Given the description of an element on the screen output the (x, y) to click on. 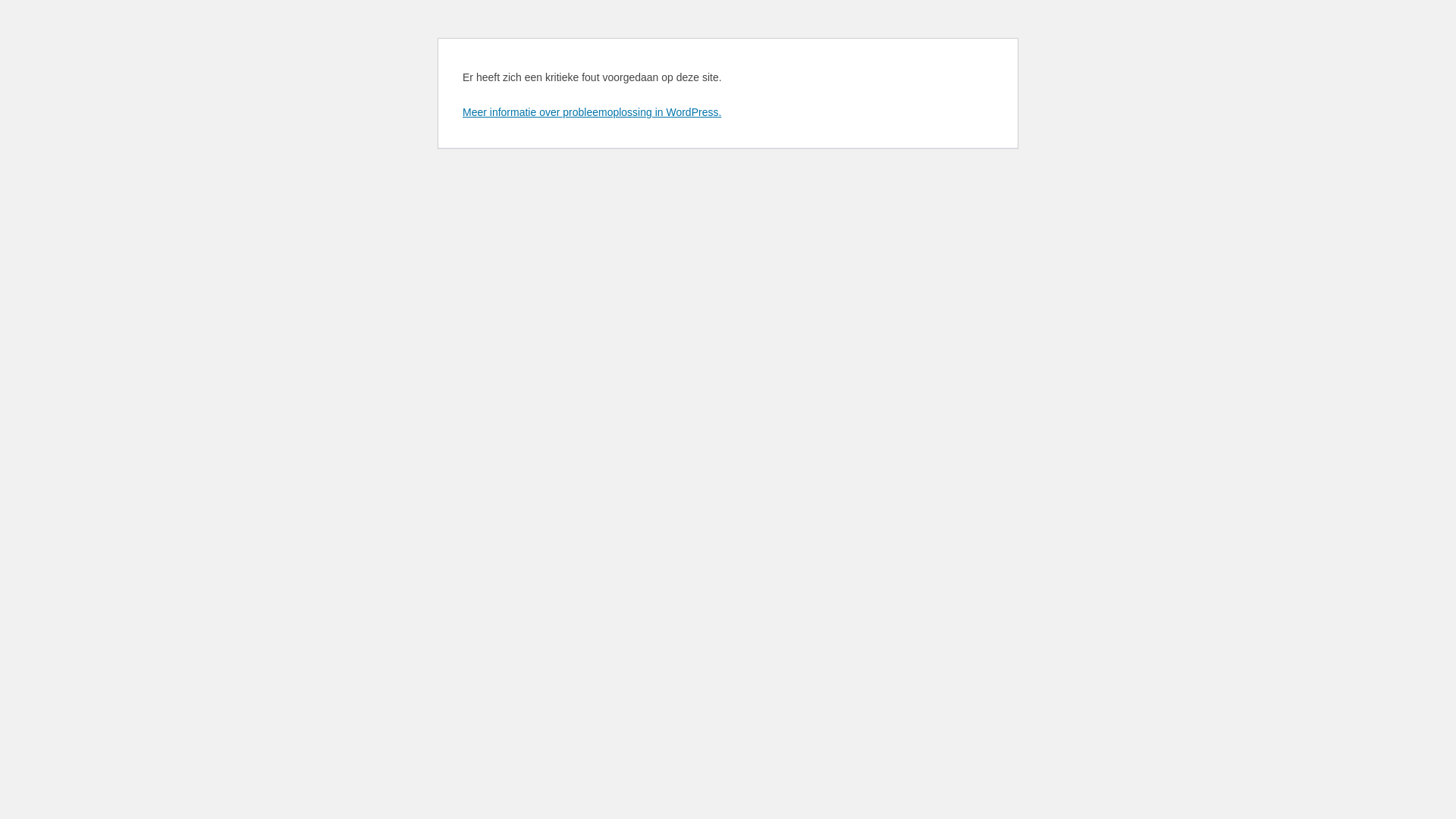
Meer informatie over probleemoplossing in WordPress. Element type: text (591, 112)
